Given the description of an element on the screen output the (x, y) to click on. 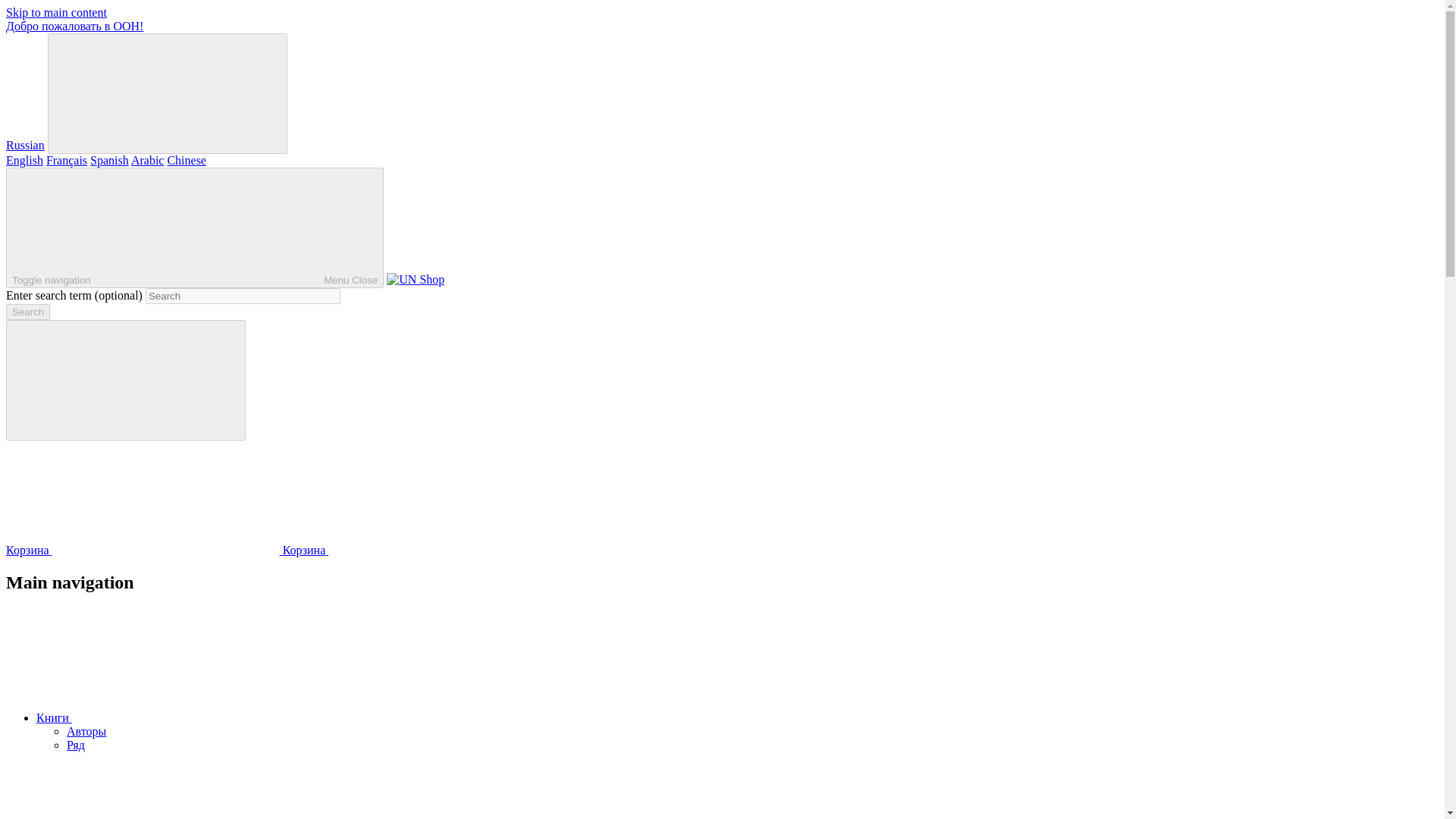
Spanish (109, 160)
English (24, 160)
Chinese (186, 160)
Search (27, 311)
Arabic (147, 160)
Russian (25, 144)
Toggle navigation Menu Close (194, 227)
Skip to main content (55, 11)
